Given the description of an element on the screen output the (x, y) to click on. 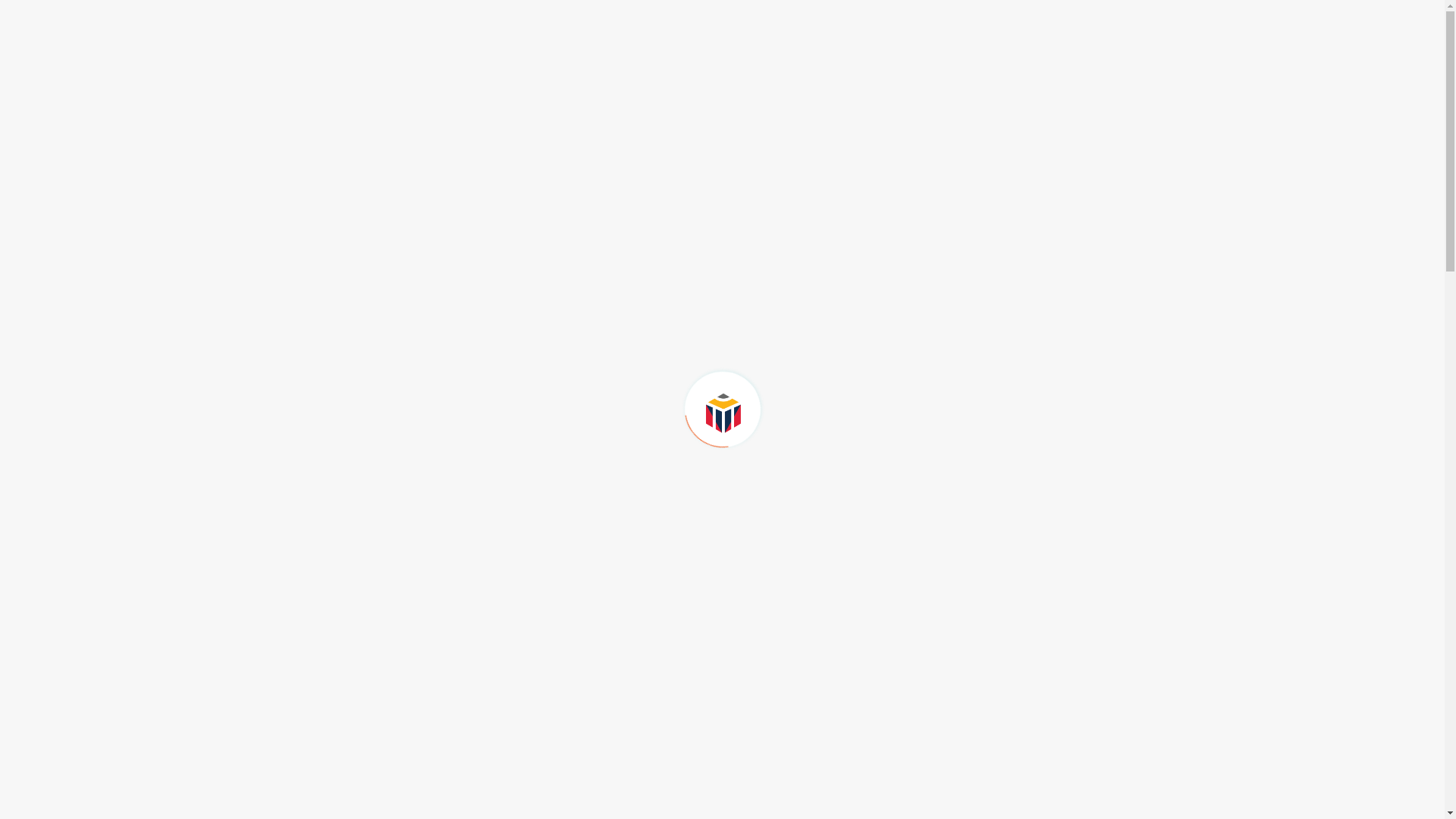
Login Element type: text (1129, 16)
BLOG Element type: text (965, 69)
CONTACT Element type: text (1031, 69)
+880 1714 121719 Element type: text (446, 16)
WORKSHOP Element type: text (779, 69)
SEE DETAILS Element type: text (360, 652)
S E I P Element type: text (904, 70)
/ +880241010090 Element type: text (537, 16)
SEE DETAILS Element type: text (648, 652)
COURSES Element type: text (693, 69)
info@pencilbox.edu.bd Element type: text (661, 16)
RPL Element type: text (847, 69)
HOME Element type: text (626, 69)
SEE DETAILS Element type: text (936, 652)
